Given the description of an element on the screen output the (x, y) to click on. 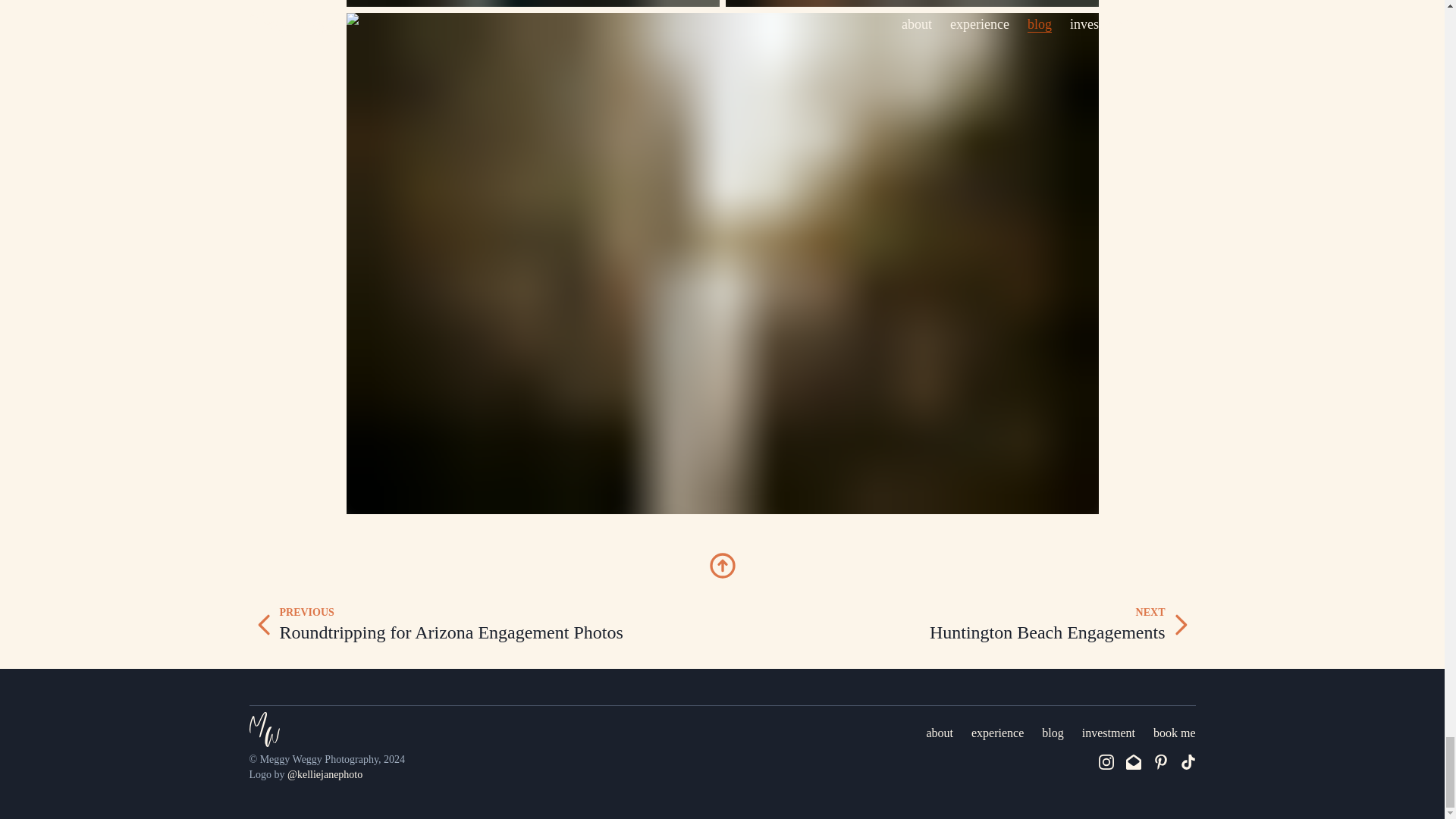
investment (485, 624)
experience (958, 624)
blog (1108, 732)
about (997, 732)
book me (1052, 732)
